Given the description of an element on the screen output the (x, y) to click on. 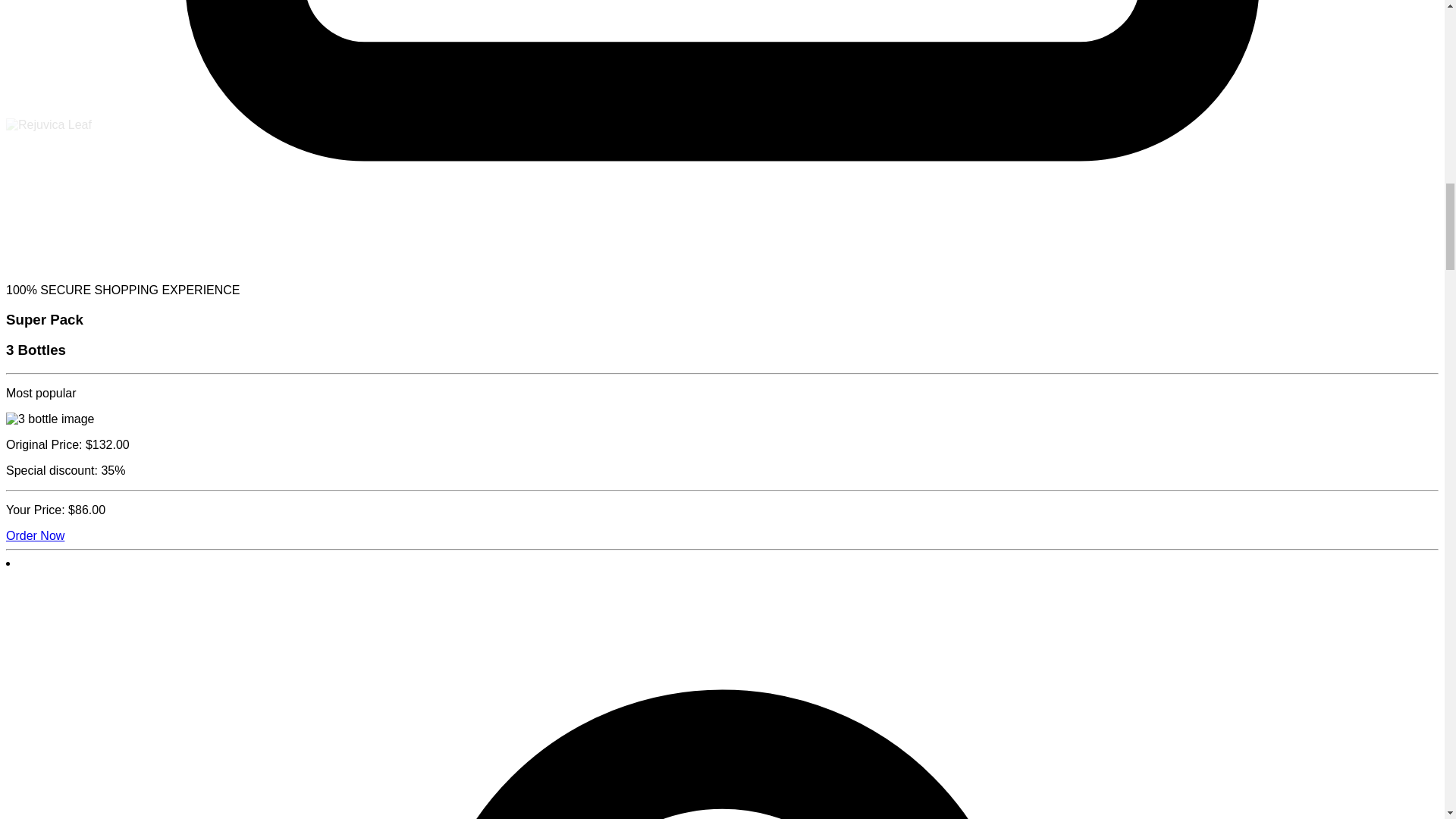
Order Now (34, 535)
